Given the description of an element on the screen output the (x, y) to click on. 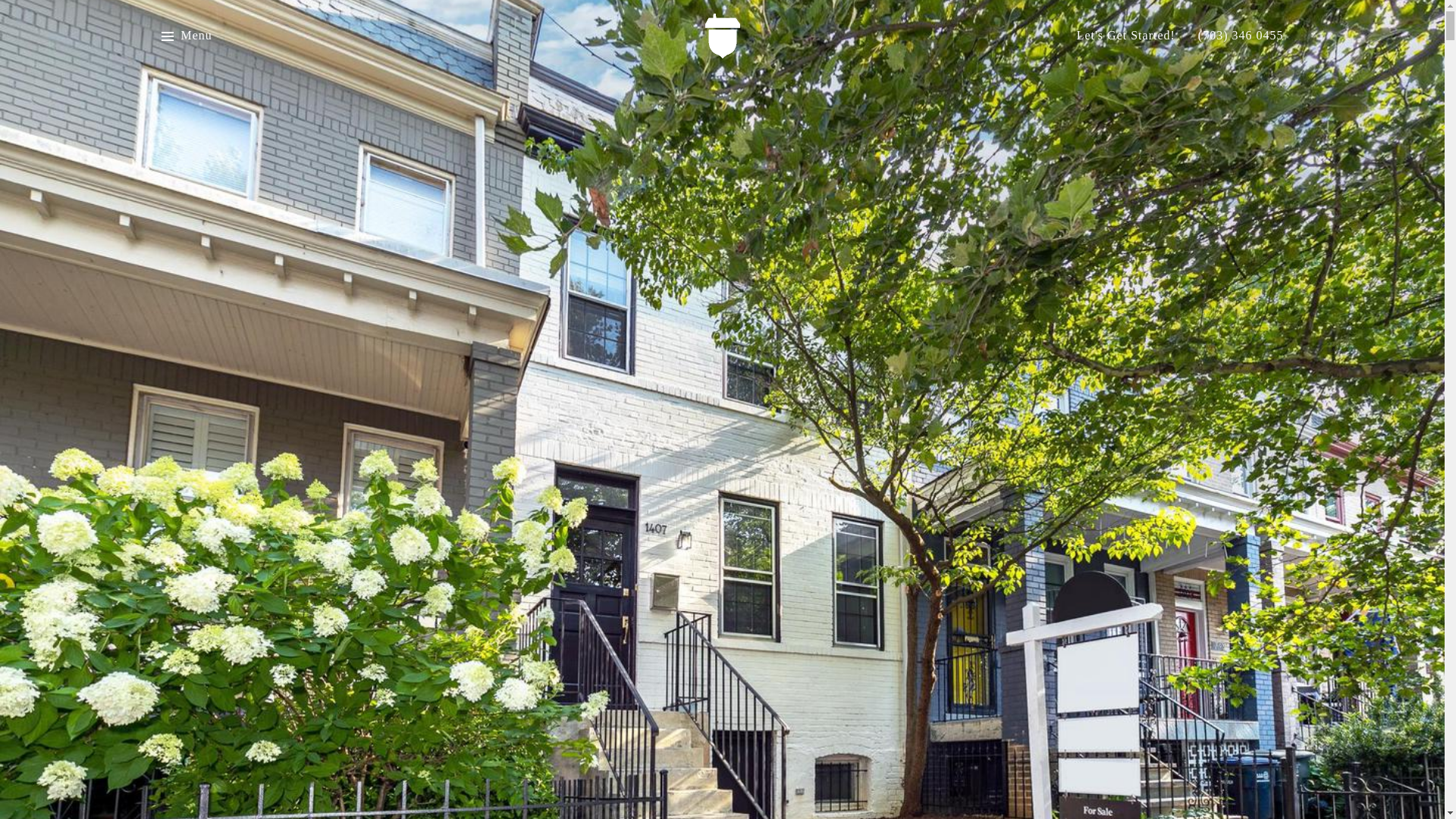
Menu (185, 35)
Menu (195, 35)
Let'S Get Started! (1125, 35)
